Given the description of an element on the screen output the (x, y) to click on. 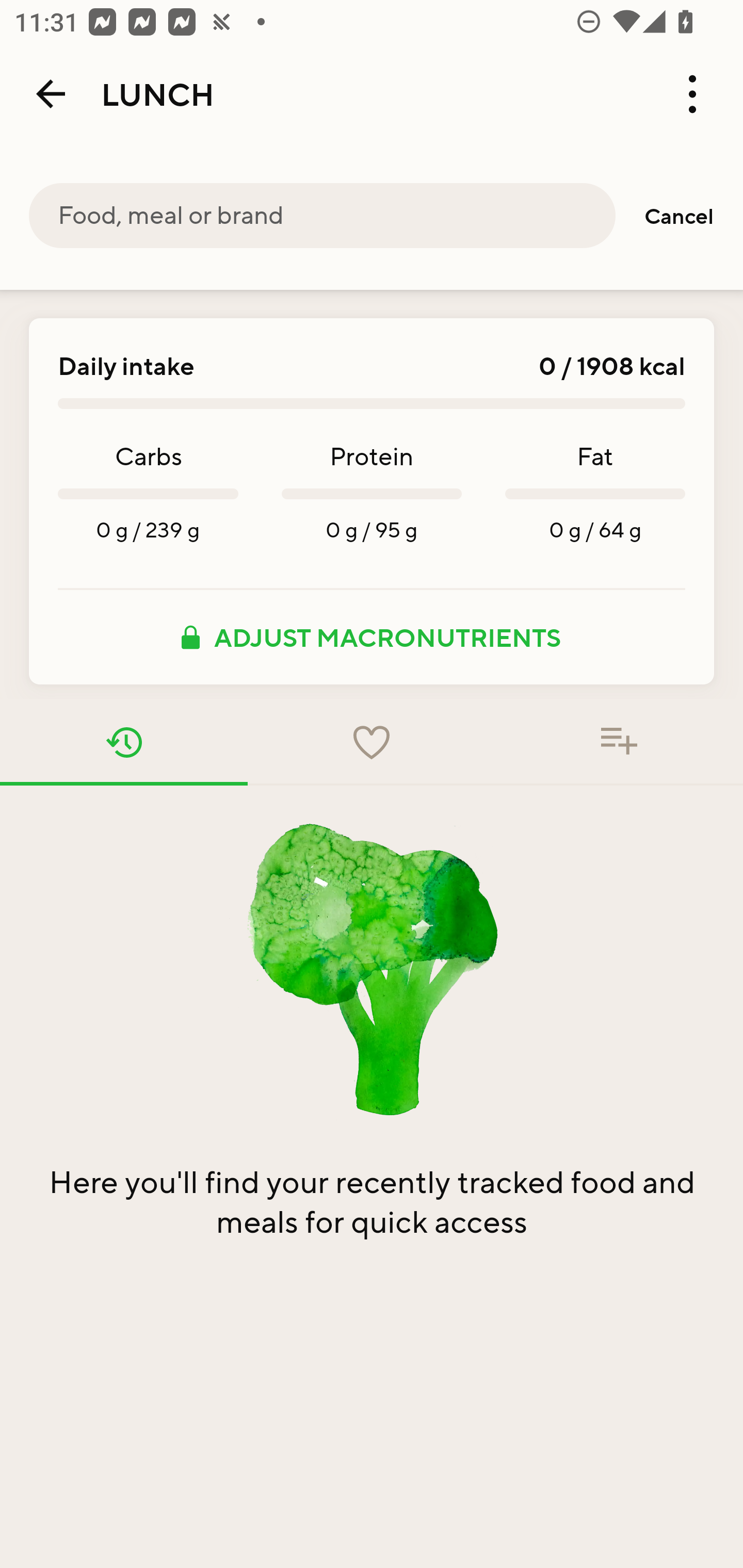
Back (50, 93)
Cancel (679, 215)
ADJUST MACRONUTRIENTS (371, 637)
Favorites (371, 742)
Food added (619, 742)
